Given the description of an element on the screen output the (x, y) to click on. 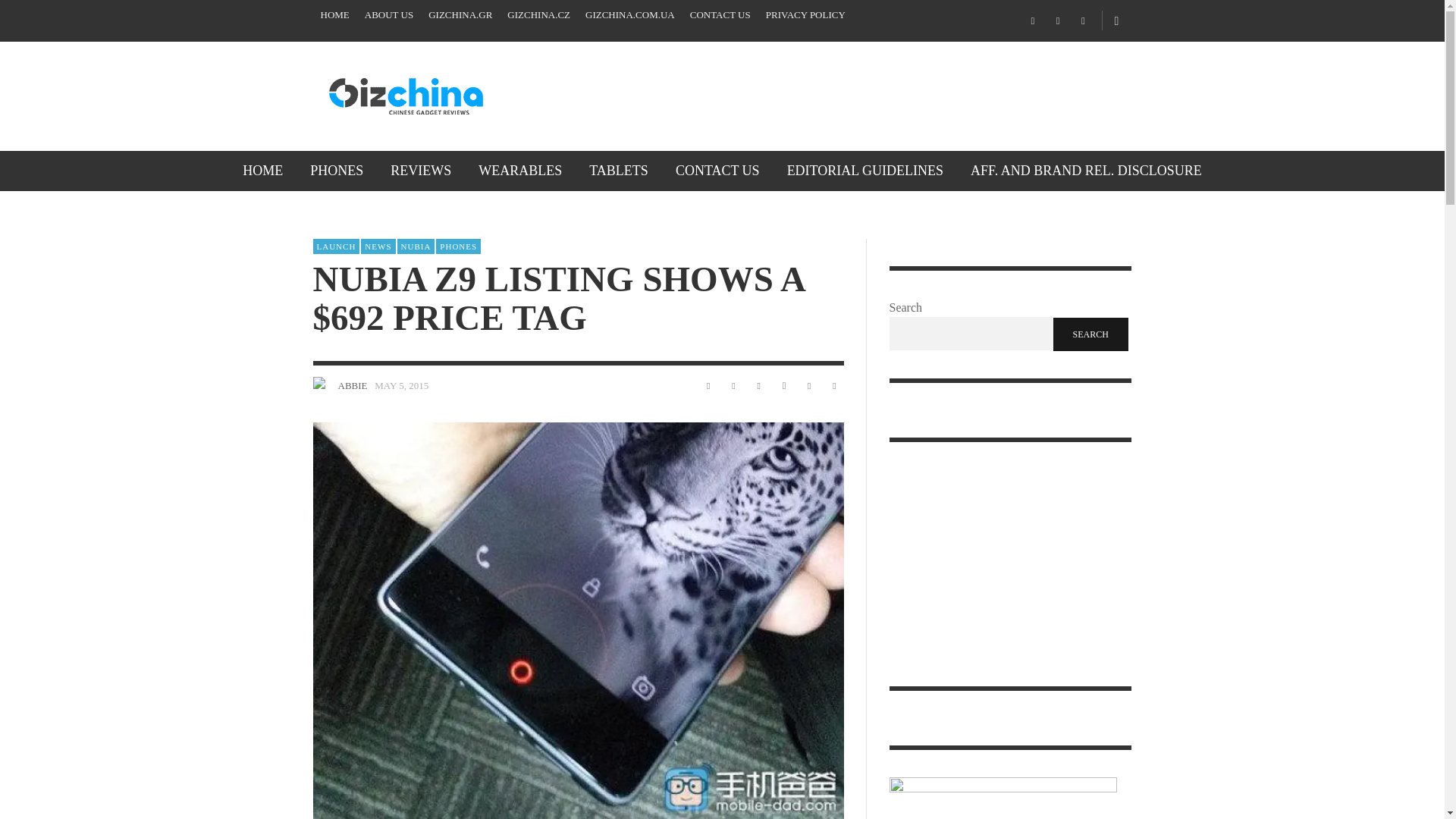
HOME (262, 170)
PRIVACY POLICY (805, 15)
PHONES (337, 170)
HOME (334, 15)
CONTACT US (720, 15)
GIZCHINA.GR (459, 15)
GIZCHINA.CZ (538, 15)
REVIEWS (420, 170)
GIZCHINA.COM.UA (630, 15)
ABOUT US (388, 15)
